Given the description of an element on the screen output the (x, y) to click on. 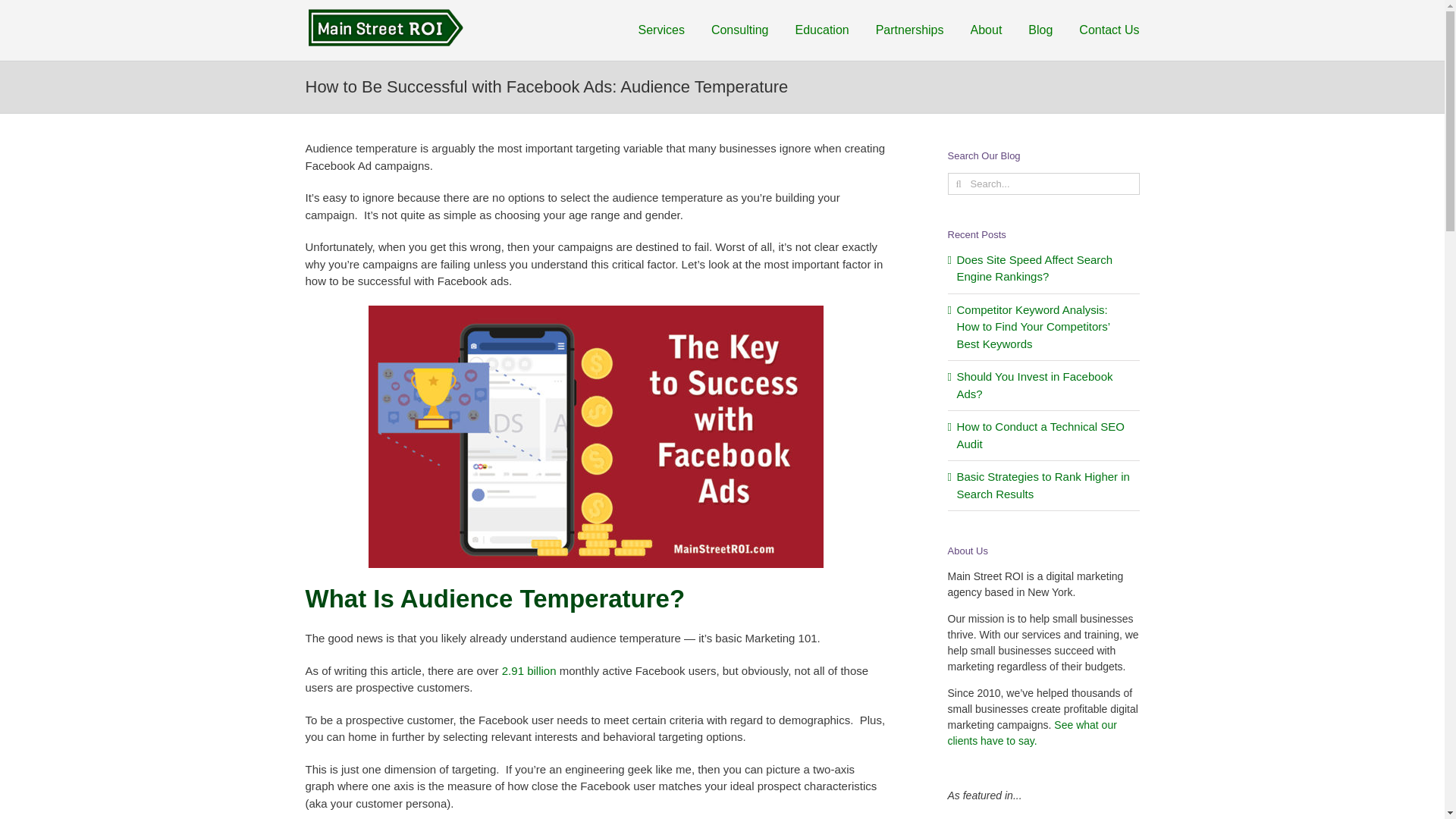
Contact Us (1108, 30)
Partnerships (909, 30)
Consulting (739, 30)
Contact Us (1108, 30)
